Given the description of an element on the screen output the (x, y) to click on. 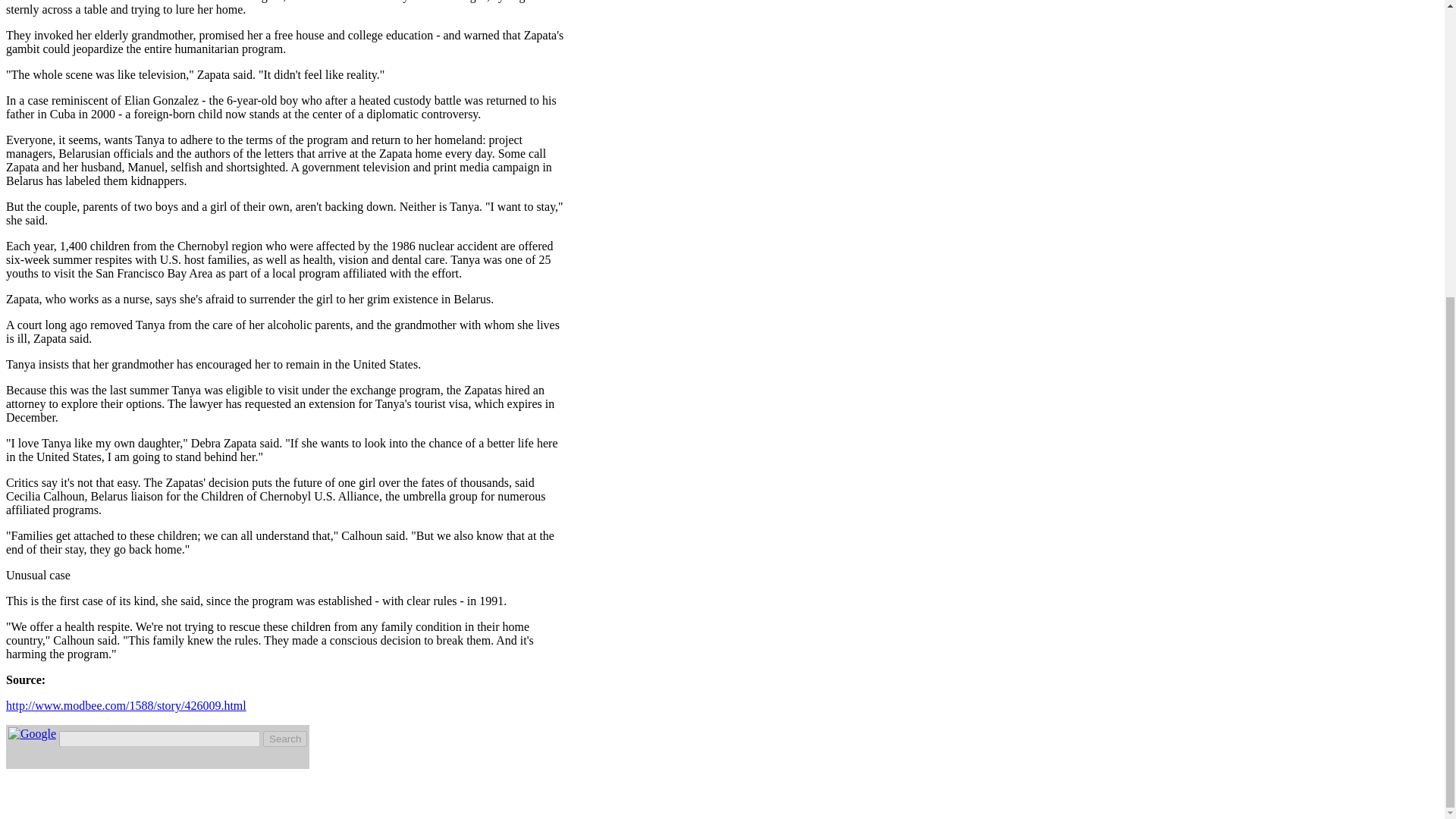
Search (285, 738)
Search (285, 738)
